Given the description of an element on the screen output the (x, y) to click on. 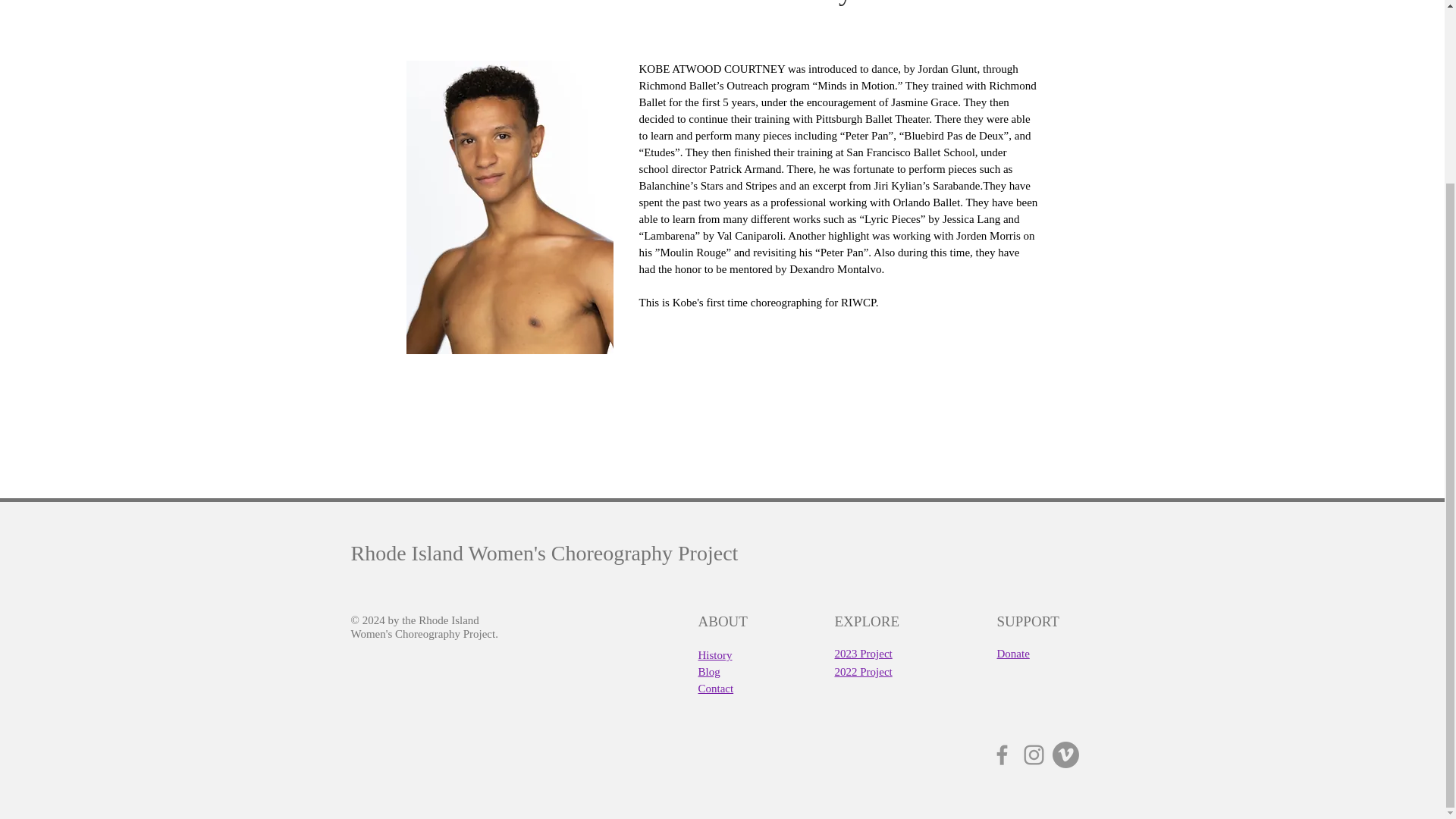
History (714, 654)
2022 Project (862, 671)
2023 Project (862, 653)
Blog (708, 671)
Contact (715, 687)
Donate (1012, 653)
